Given the description of an element on the screen output the (x, y) to click on. 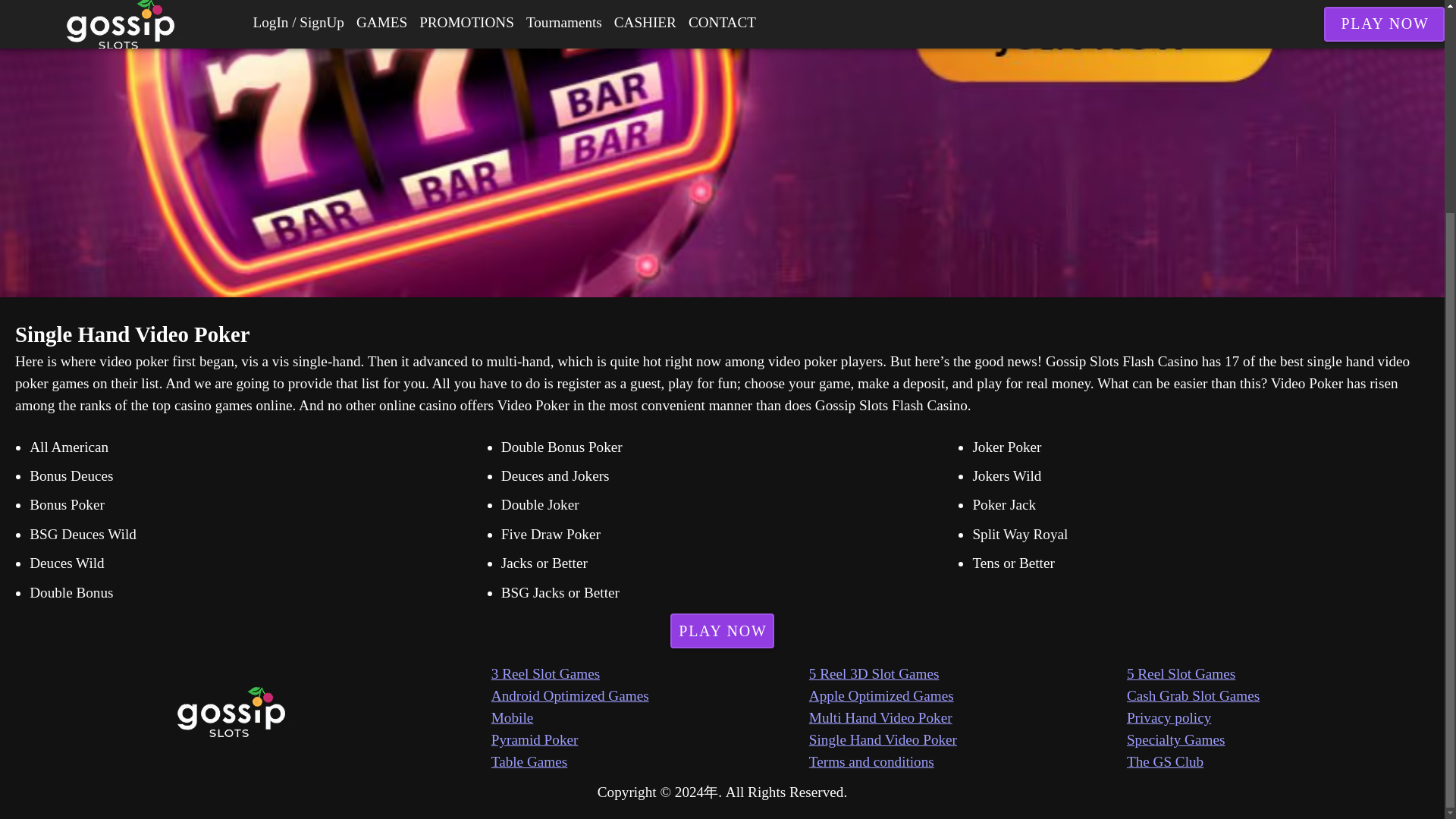
5 Reel 3D Slot Games (967, 674)
3 Reel Slot Games (650, 674)
Apple Optimized Games (967, 696)
Pyramid Poker (650, 740)
Single Hand Video Poker (967, 740)
Table Games (650, 762)
Mobile (650, 718)
Android Optimized Games (650, 696)
Multi Hand Video Poker (967, 718)
PLAY NOW (721, 630)
